Given the description of an element on the screen output the (x, y) to click on. 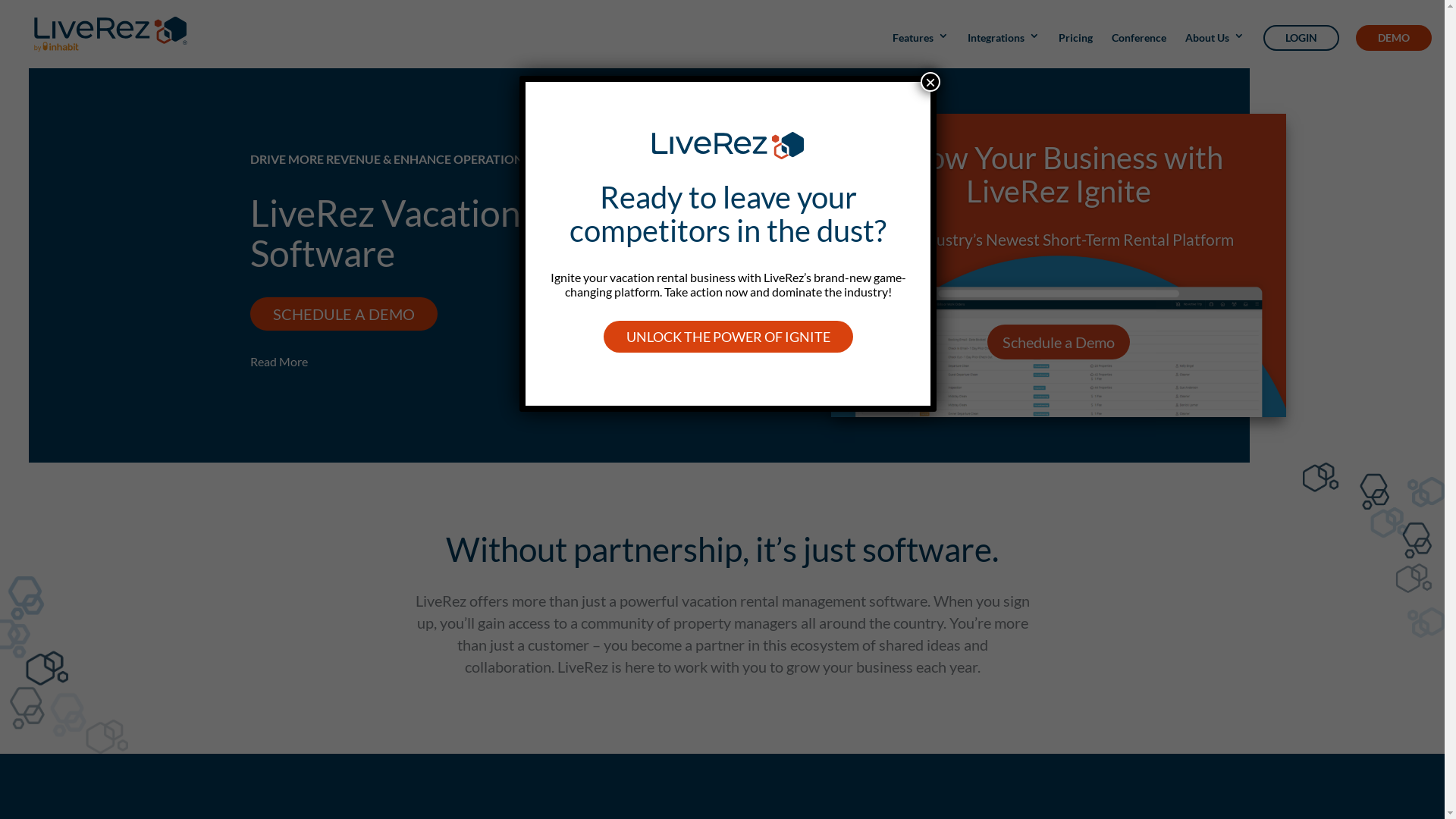
DEMO Element type: text (1393, 37)
LOGIN Element type: text (1301, 37)
Conference Element type: text (1138, 47)
Features Element type: text (920, 47)
Schedule a Demo Element type: text (1058, 341)
Read More Element type: text (278, 361)
About Us Element type: text (1214, 47)
Pricing Element type: text (1075, 47)
SCHEDULE A DEMO Element type: text (343, 313)
UNLOCK THE POWER OF IGNITE Element type: text (728, 336)
Integrations Element type: text (1003, 47)
